Given the description of an element on the screen output the (x, y) to click on. 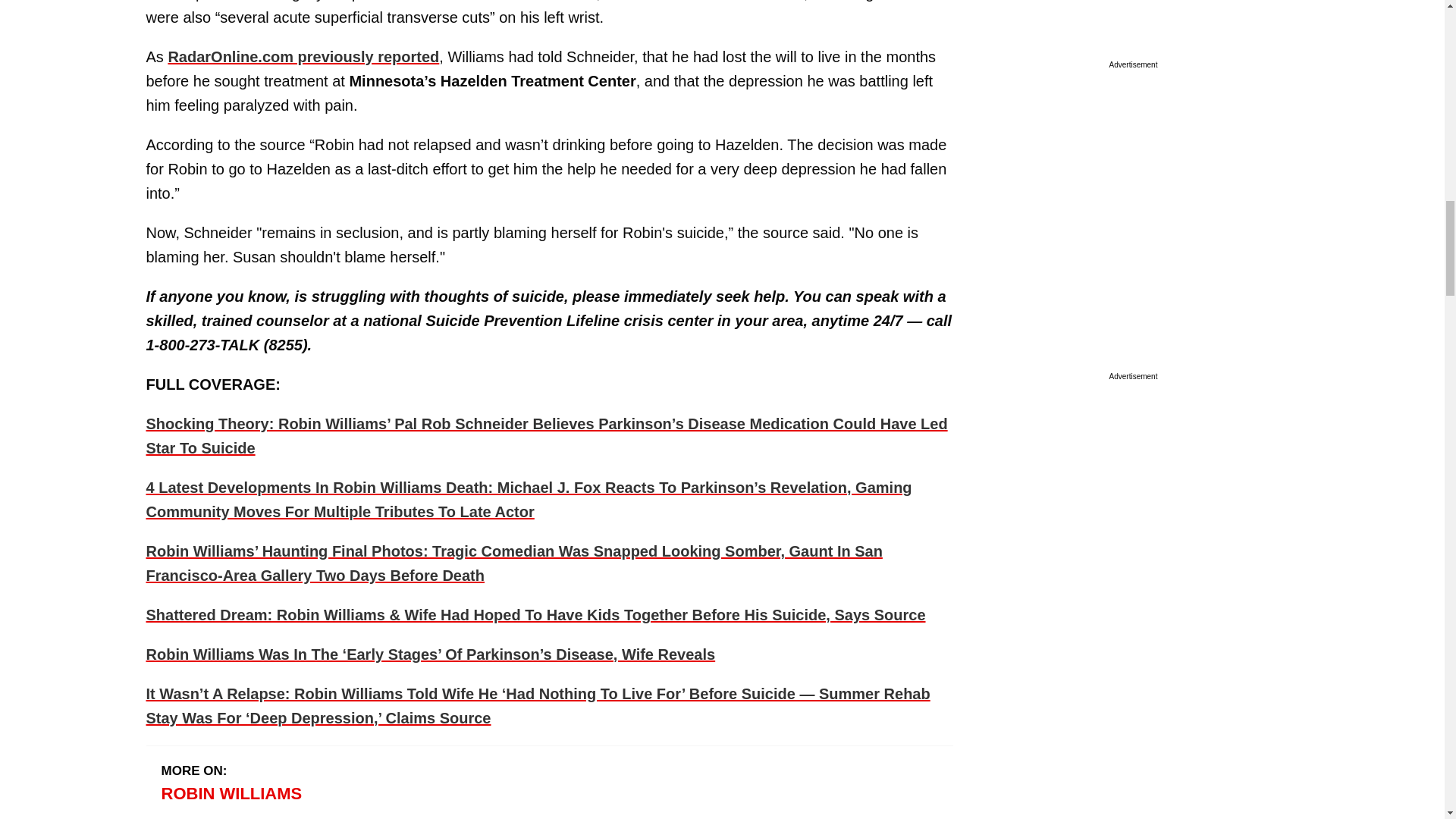
RadarOnline.com previously reported (303, 56)
